Given the description of an element on the screen output the (x, y) to click on. 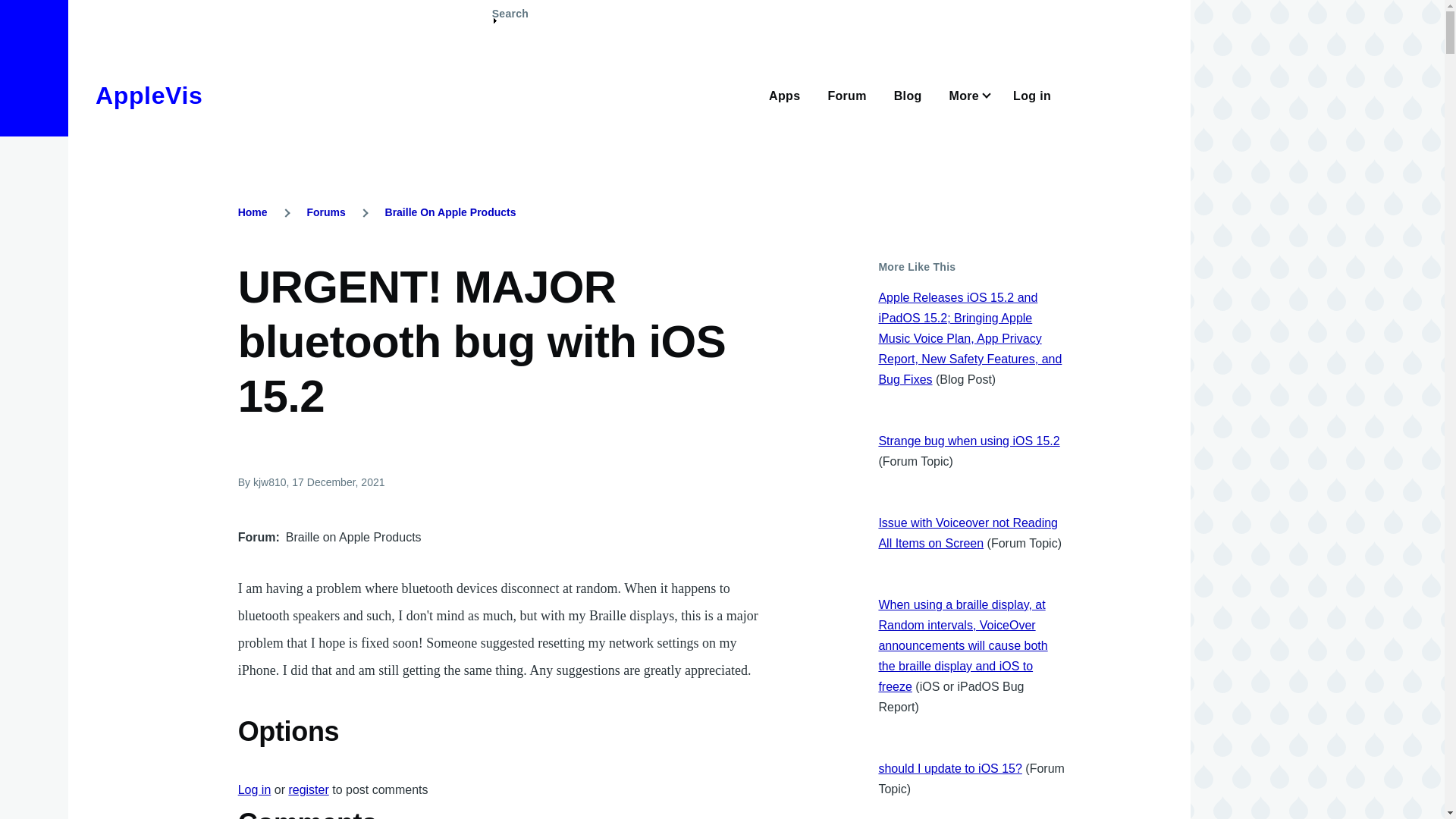
Skip to main content (595, 6)
Forums (325, 212)
Log in (254, 789)
Search (510, 20)
Braille On Apple Products (450, 212)
Home (252, 212)
Home (149, 94)
register (308, 789)
AppleVis (149, 94)
